Given the description of an element on the screen output the (x, y) to click on. 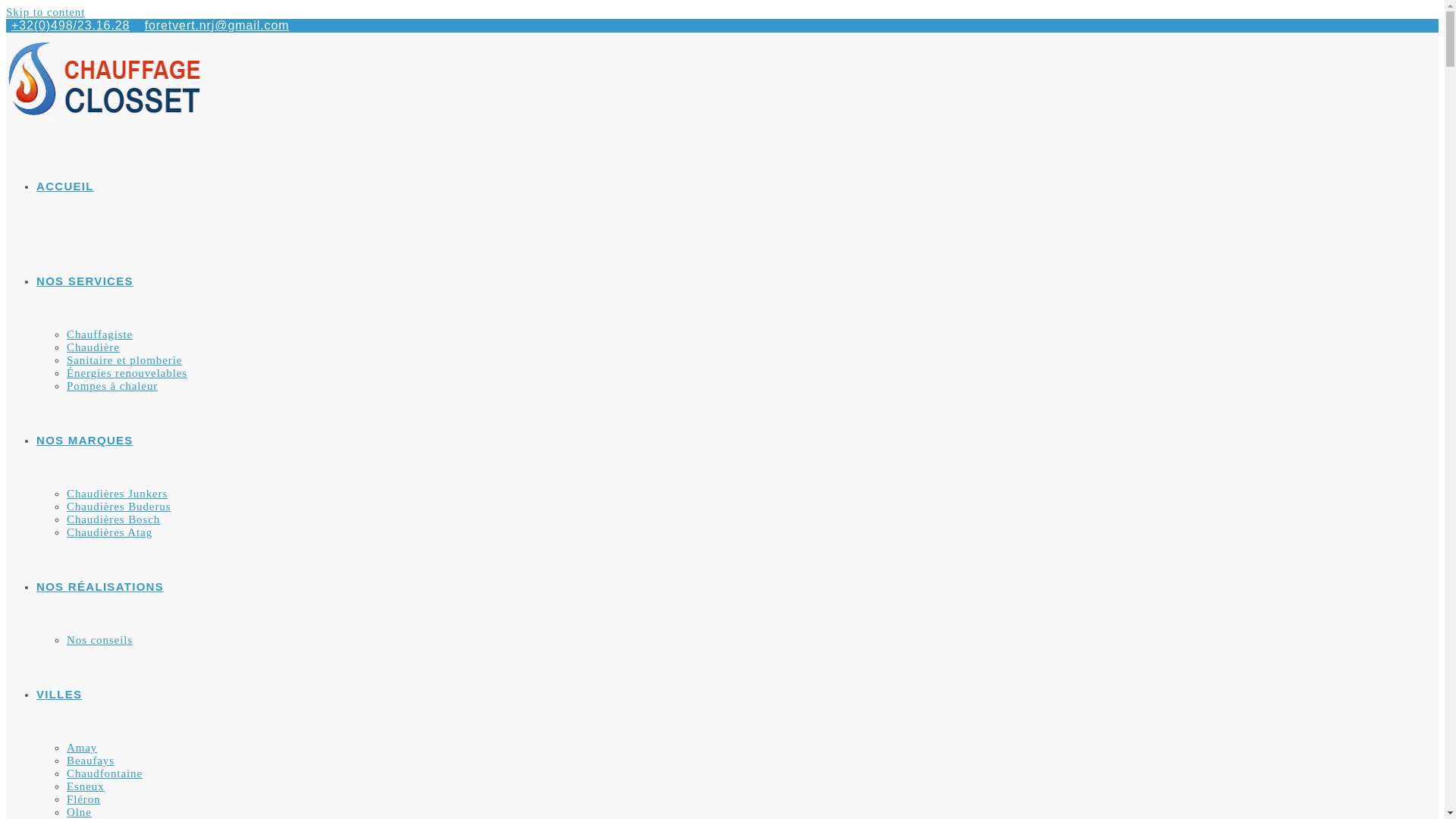
Nos conseils Element type: text (99, 639)
Olne Element type: text (78, 812)
Skip to content Element type: text (45, 12)
+32(0)498/23.16.28 Element type: text (70, 24)
Sanitaire et plomberie Element type: text (124, 360)
Beaufays Element type: text (90, 760)
Chaudfontaine Element type: text (104, 773)
ACCUEIL Element type: text (65, 185)
NOS MARQUES Element type: text (84, 439)
Chauffagiste Element type: text (99, 334)
VILLES Element type: text (58, 693)
foretvert.nrj@gmail.com Element type: text (216, 24)
Amay Element type: text (81, 747)
NOS SERVICES Element type: text (84, 280)
Esneux Element type: text (85, 786)
